Given the description of an element on the screen output the (x, y) to click on. 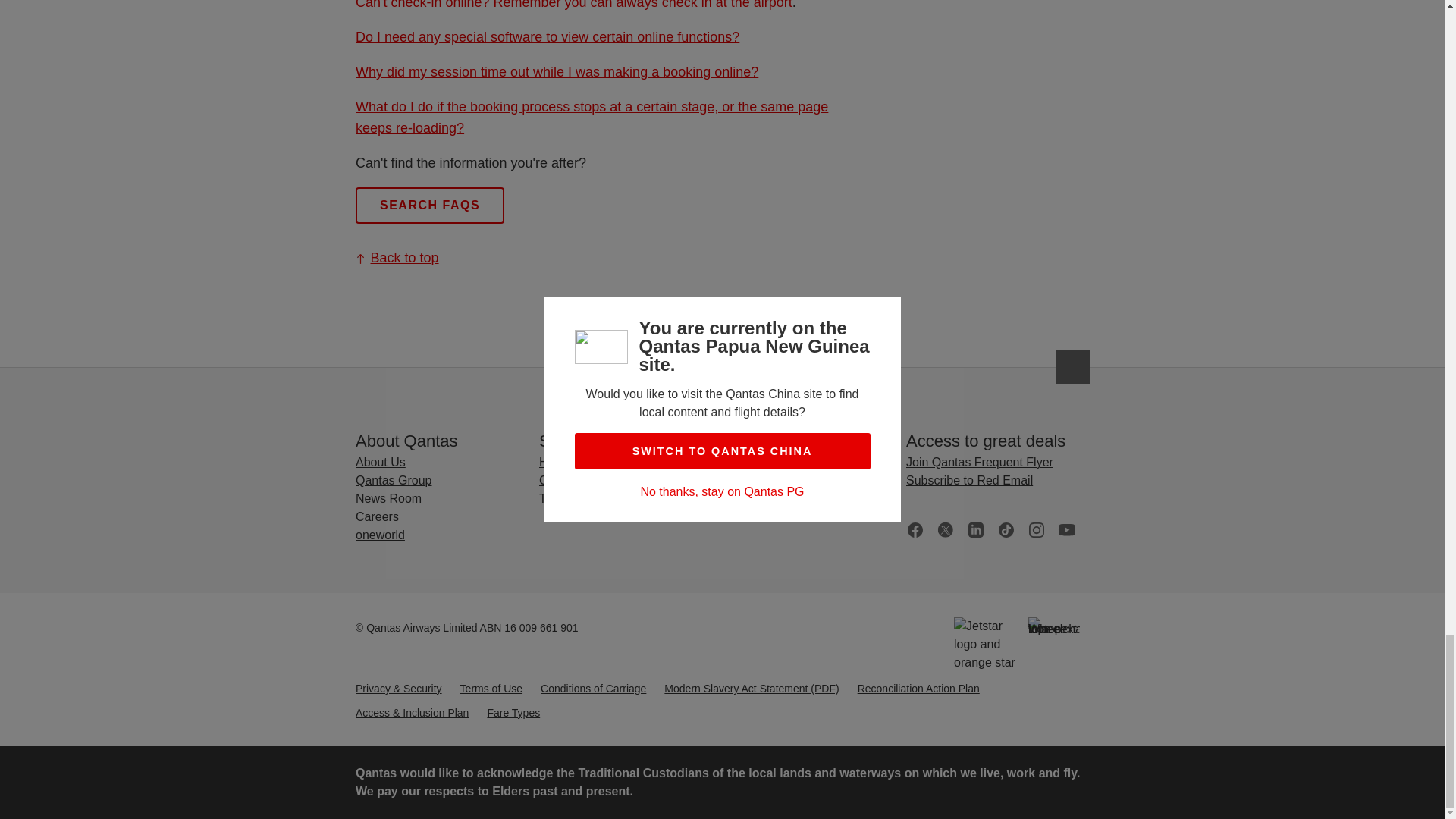
airport check-in info (573, 4)
software help (546, 37)
booking online help (591, 117)
